Given the description of an element on the screen output the (x, y) to click on. 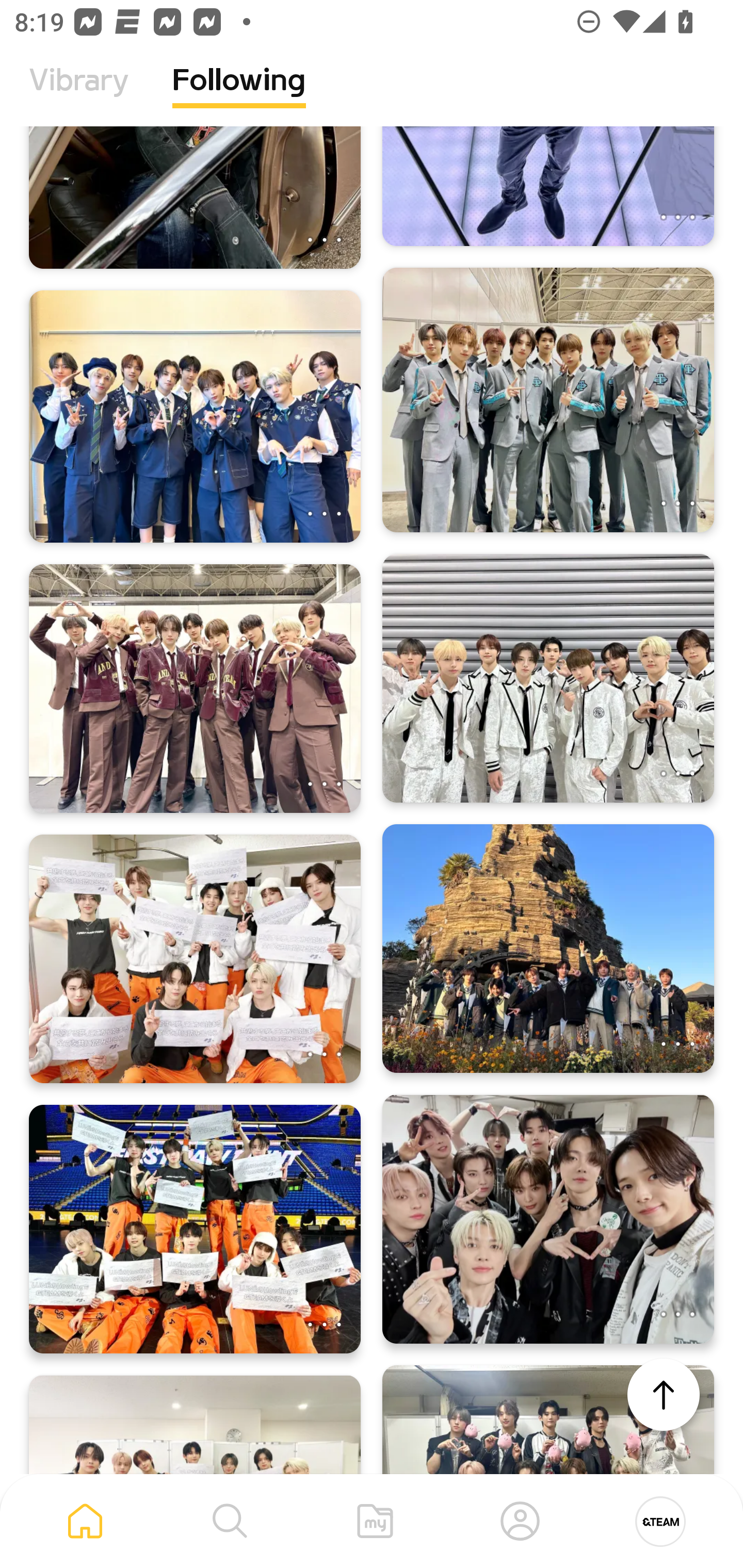
Vibrary (78, 95)
Following (239, 95)
